Given the description of an element on the screen output the (x, y) to click on. 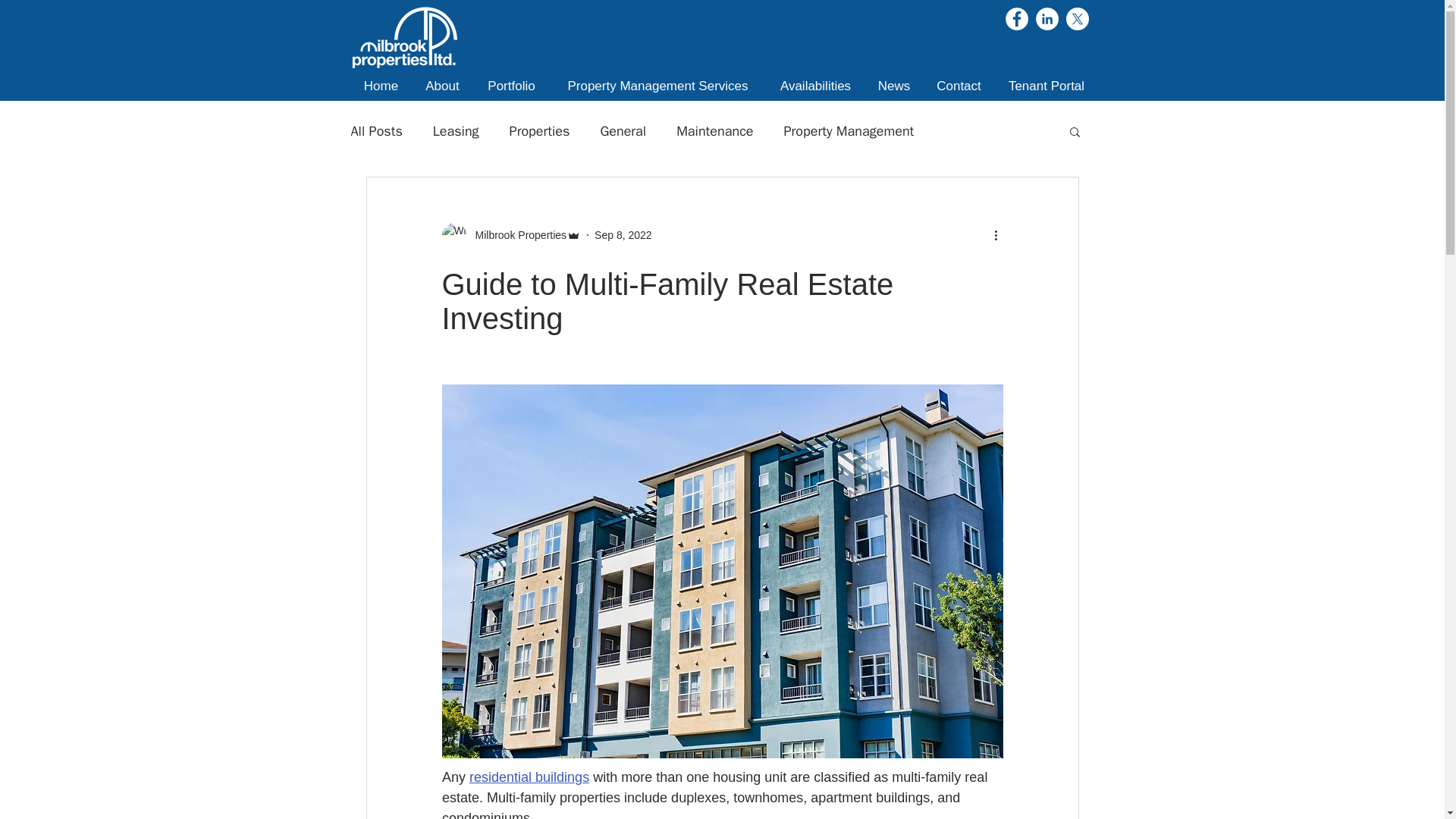
Tenant Portal (1046, 86)
Contact (958, 86)
residential buildings (528, 776)
General (622, 131)
All Posts (375, 131)
Milbrook Properties (515, 235)
Leasing (455, 131)
About (441, 86)
Sep 8, 2022 (623, 234)
Portfolio (510, 86)
